Given the description of an element on the screen output the (x, y) to click on. 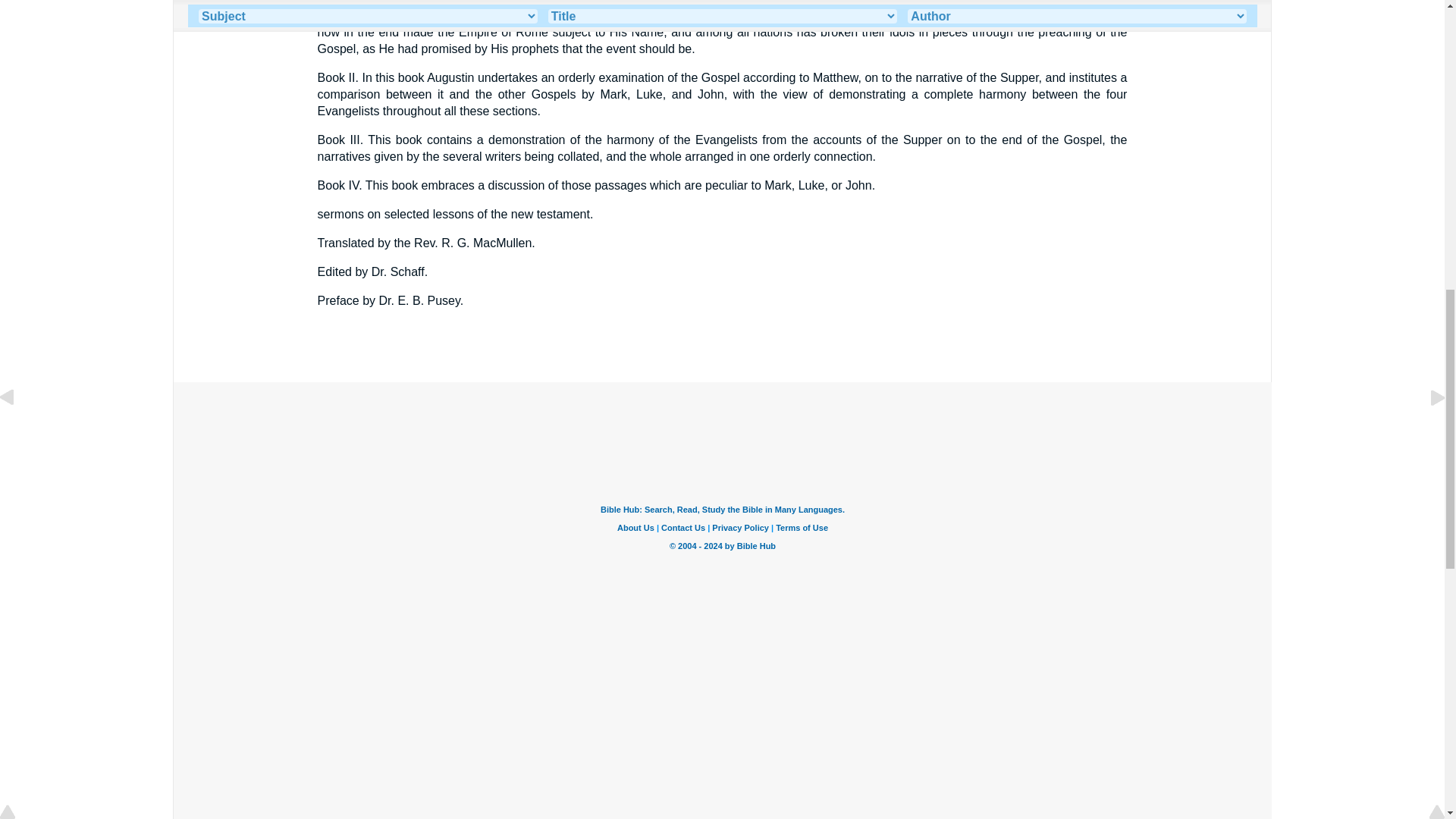
Top of Page (18, 1)
